Given the description of an element on the screen output the (x, y) to click on. 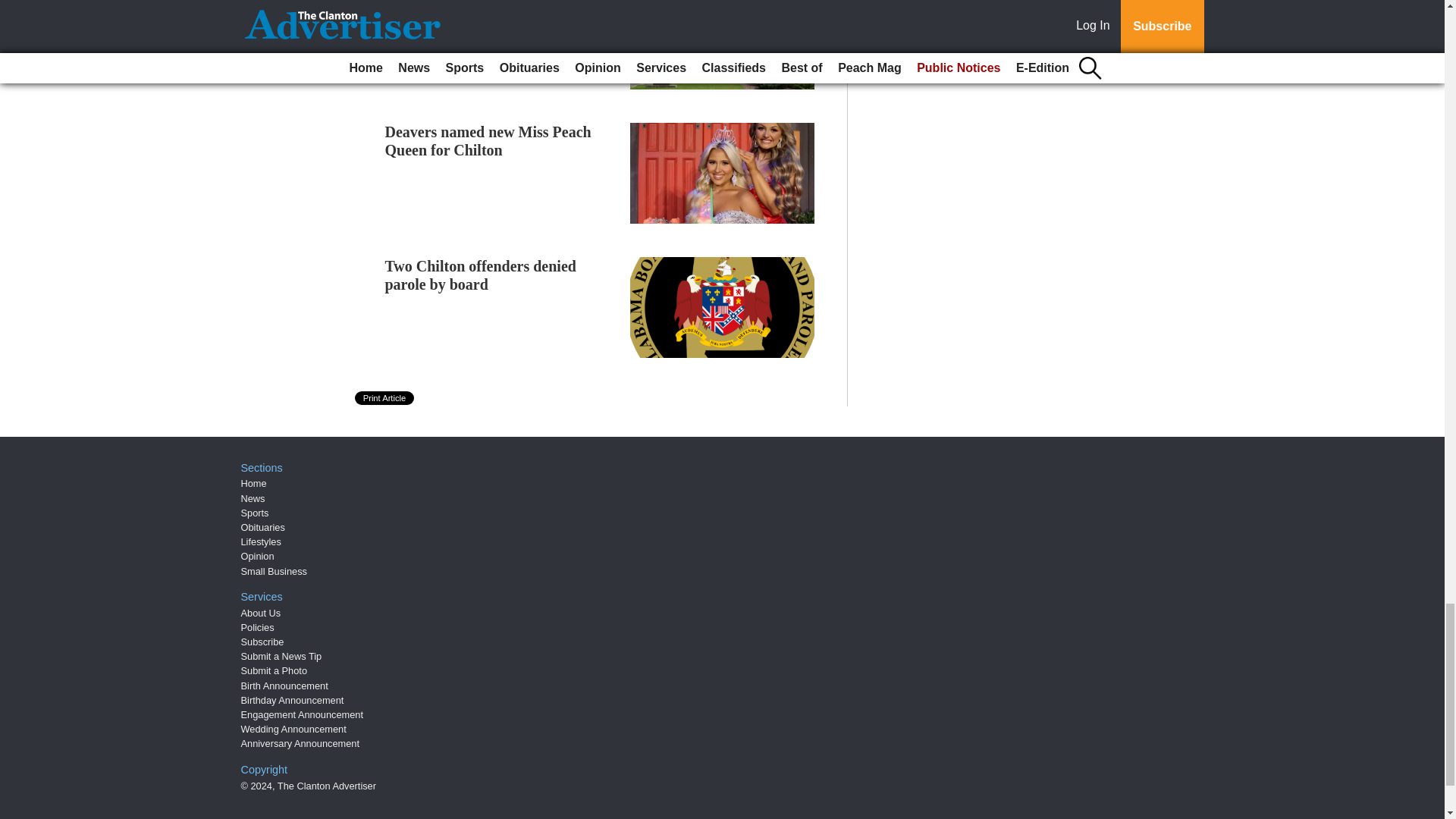
Two Chilton offenders denied parole by board (480, 274)
Home (253, 482)
Deavers named new Miss Peach Queen for Chilton (488, 140)
Deavers named new Miss Peach Queen for Chilton (488, 140)
Two Chilton offenders denied parole by board (480, 274)
Print Article (384, 397)
